Given the description of an element on the screen output the (x, y) to click on. 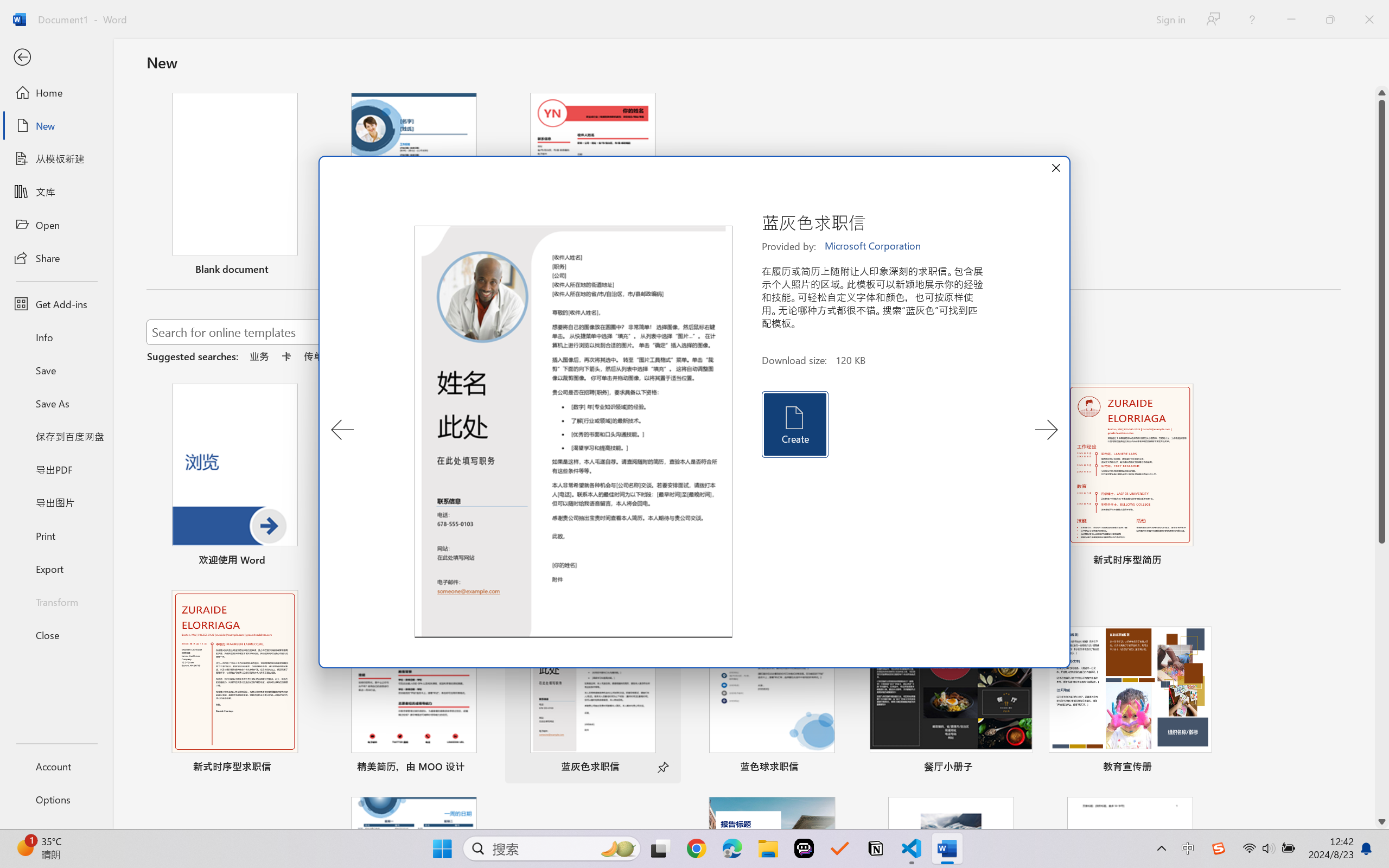
New (56, 125)
Create (794, 424)
Account (56, 765)
Back (56, 57)
Page down (1382, 679)
